Given the description of an element on the screen output the (x, y) to click on. 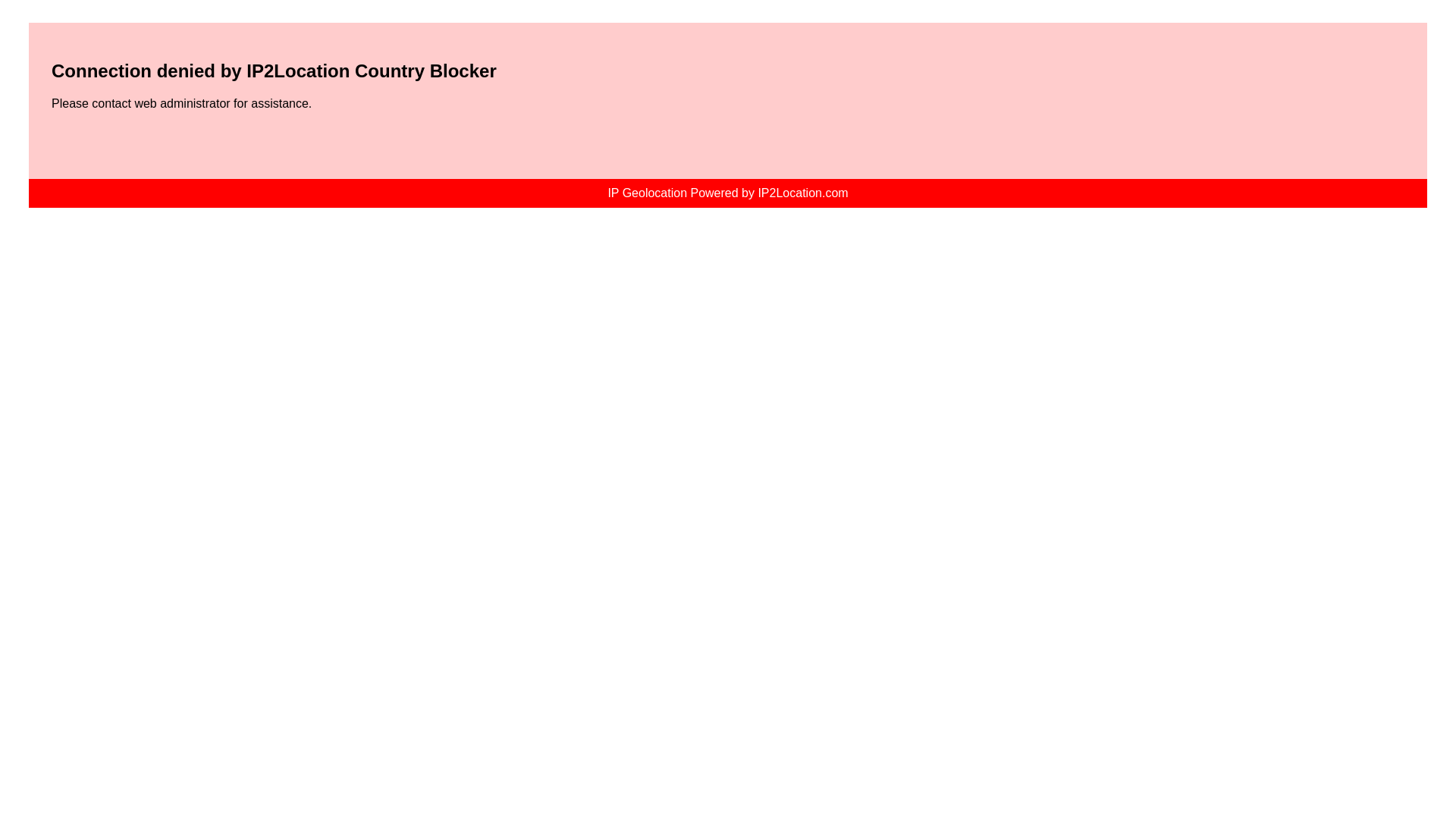
IP Geolocation Powered by IP2Location.com (727, 192)
